Given the description of an element on the screen output the (x, y) to click on. 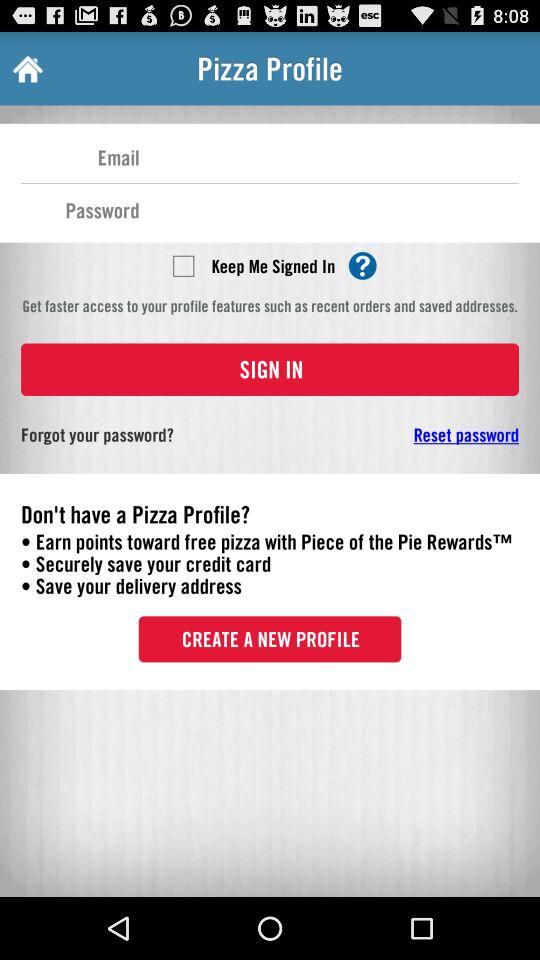
press the button below the sign in button (406, 434)
